Given the description of an element on the screen output the (x, y) to click on. 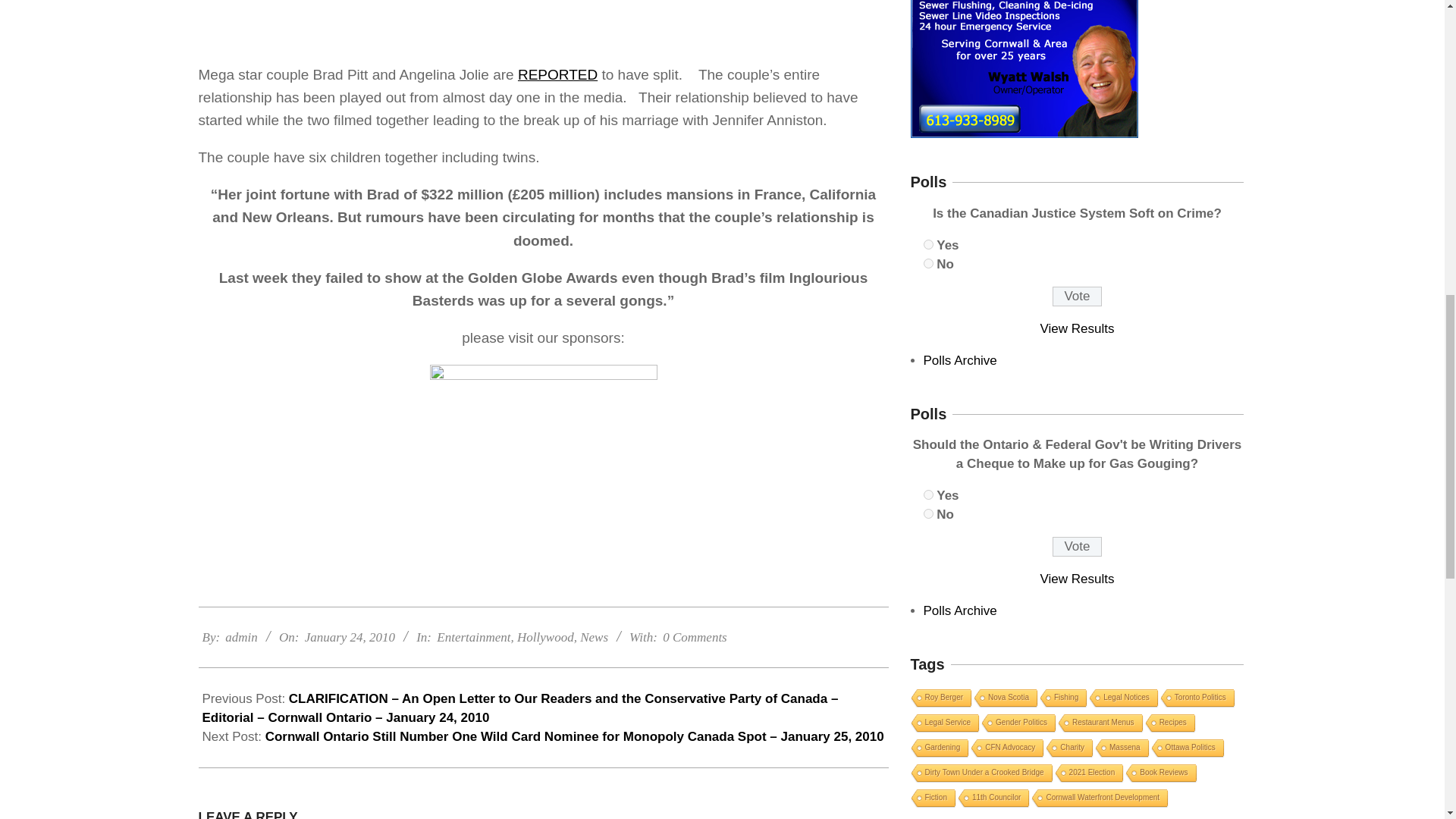
1755 (928, 263)
pittang (542, 24)
Posts by admin (241, 636)
Sunday, January 24, 2010, 7:24 pm (349, 636)
   Vote    (1076, 296)
View Results Of This Poll (1078, 328)
1754 (928, 244)
1763 (928, 513)
1762 (928, 494)
View Results Of This Poll (1078, 578)
   Vote    (1076, 546)
